Given the description of an element on the screen output the (x, y) to click on. 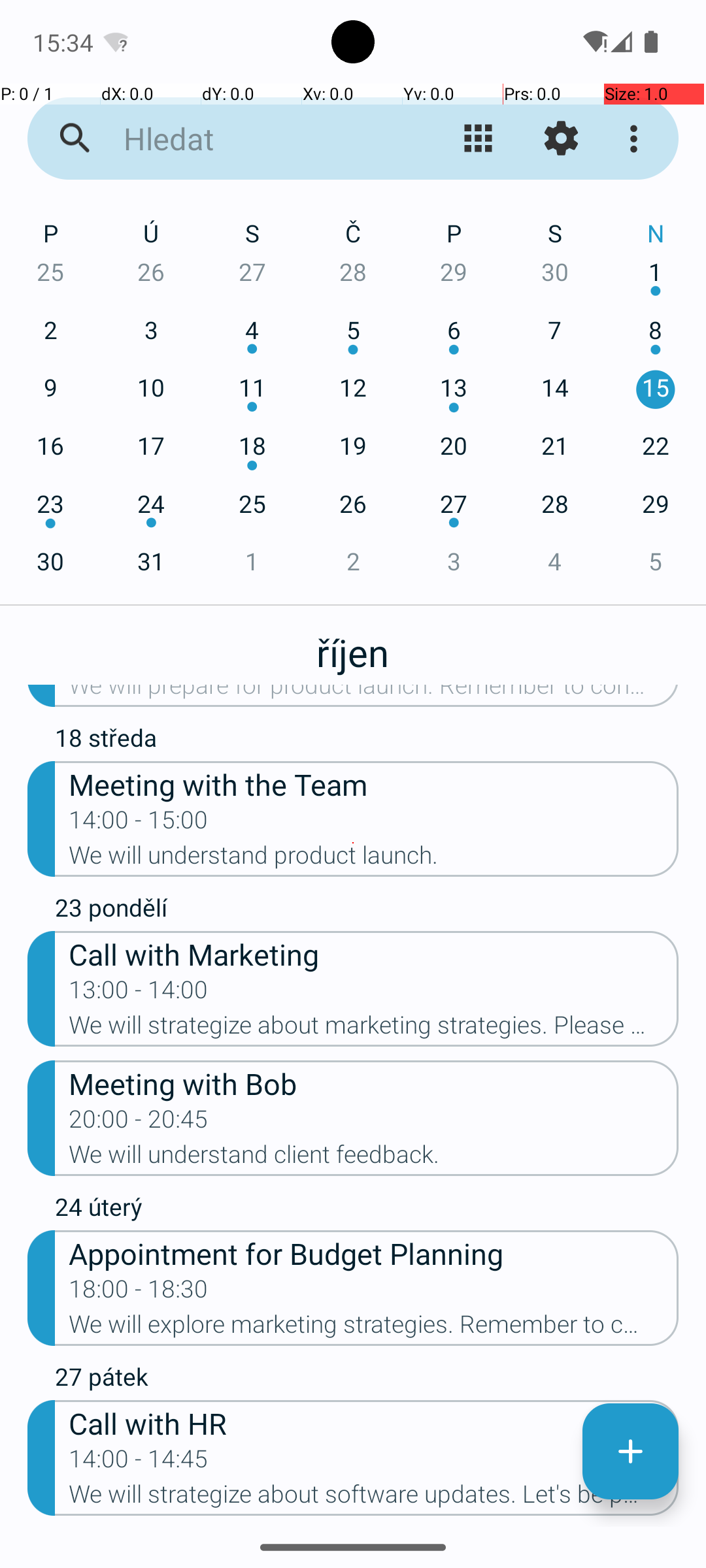
Hledat Element type: android.widget.EditText (252, 138)
Změnit zobrazení Element type: android.widget.Button (477, 138)
Nastavení Element type: android.widget.Button (560, 138)
Další možnosti Element type: android.widget.ImageView (636, 138)
Nová událost Element type: android.widget.ImageButton (630, 1451)
říjen Element type: android.widget.TextView (352, 644)
18 středa Element type: android.widget.TextView (366, 740)
23 pondělí Element type: android.widget.TextView (366, 910)
24 úterý Element type: android.widget.TextView (366, 1209)
27 pátek Element type: android.widget.TextView (366, 1379)
We will prepare for product launch. Remember to confirm attendance. Element type: android.widget.TextView (373, 695)
14:00 - 15:00 Element type: android.widget.TextView (137, 823)
We will understand product launch. Element type: android.widget.TextView (373, 858)
13:00 - 14:00 Element type: android.widget.TextView (137, 993)
We will strategize about marketing strategies. Please bring relevant documents. Element type: android.widget.TextView (373, 1028)
20:00 - 20:45 Element type: android.widget.TextView (137, 1122)
We will understand client feedback. Element type: android.widget.TextView (373, 1158)
18:00 - 18:30 Element type: android.widget.TextView (137, 1292)
We will explore marketing strategies. Remember to confirm attendance. Element type: android.widget.TextView (373, 1327)
14:00 - 14:45 Element type: android.widget.TextView (137, 1462)
We will strategize about software updates. Let's be punctual. Element type: android.widget.TextView (373, 1497)
